Given the description of an element on the screen output the (x, y) to click on. 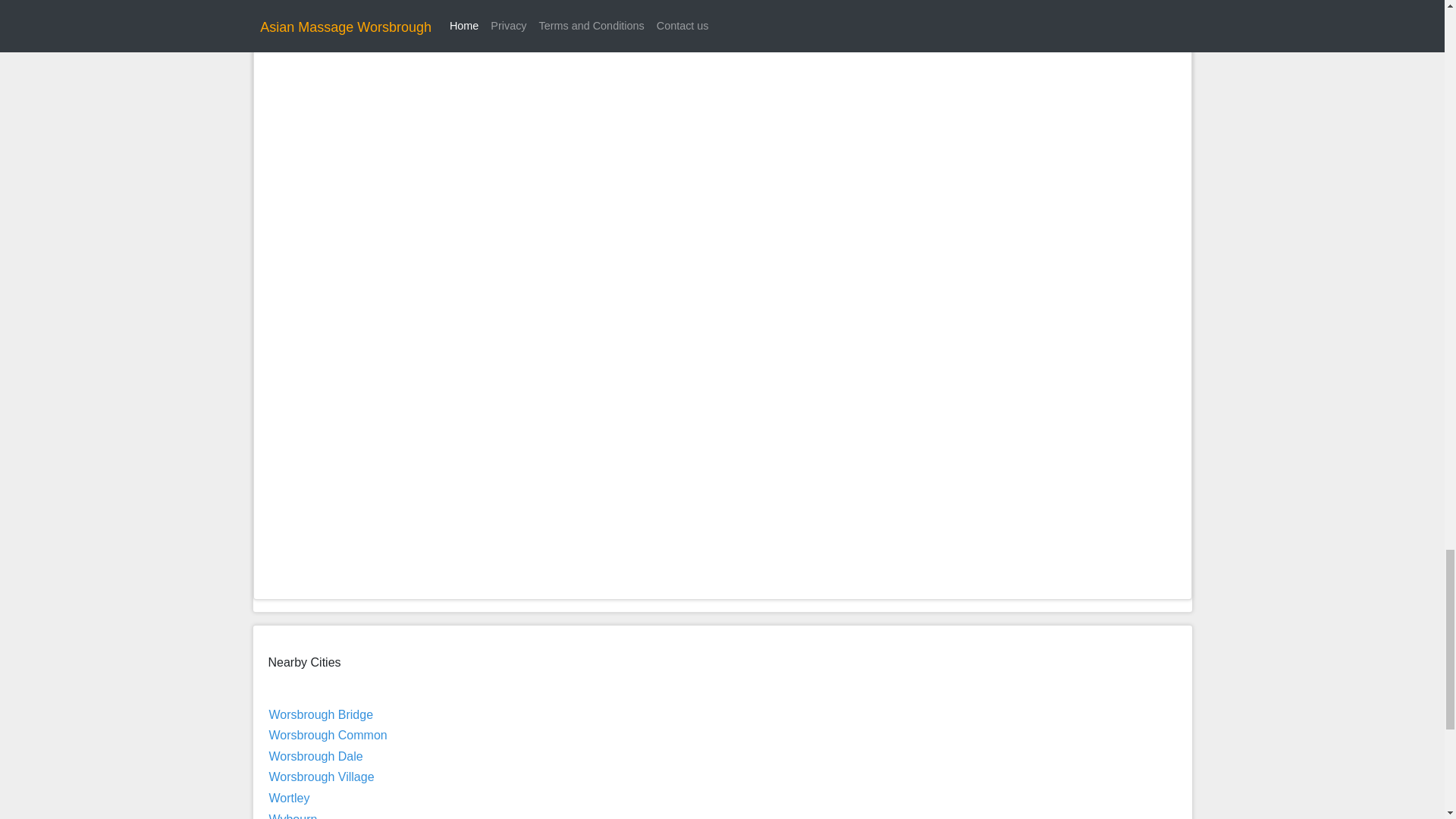
Worsbrough Dale (314, 756)
Worsbrough Common (327, 735)
Worsbrough Bridge (319, 714)
Worsbrough Village (320, 776)
Wybourn (292, 816)
Wortley (287, 797)
